Given the description of an element on the screen output the (x, y) to click on. 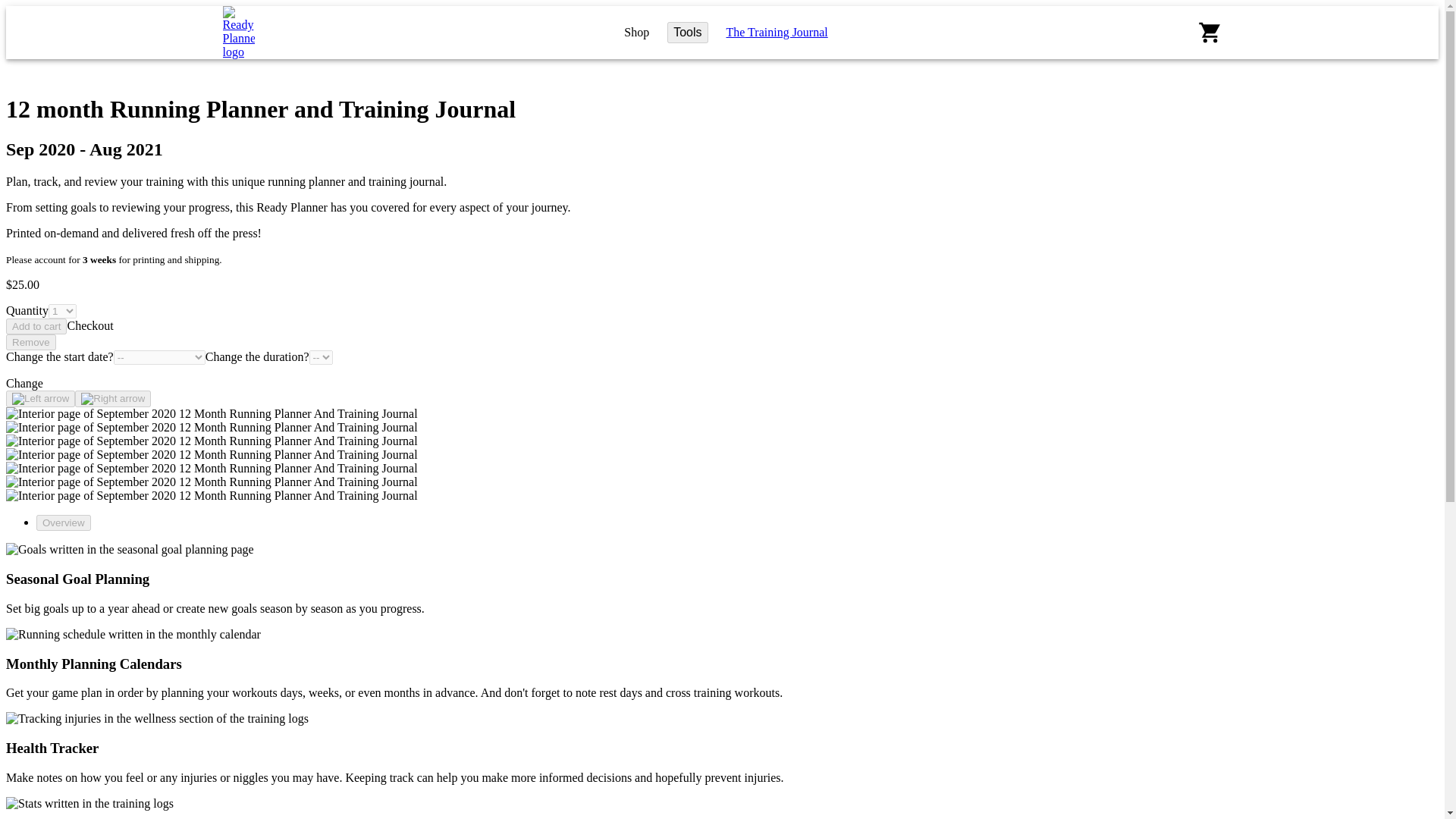
Overview (63, 522)
Remove (30, 342)
The Training Journal (777, 31)
Tools (686, 32)
Shop (636, 32)
0 (1210, 31)
Change (24, 382)
Add to cart (35, 326)
Checkout (89, 325)
